Given the description of an element on the screen output the (x, y) to click on. 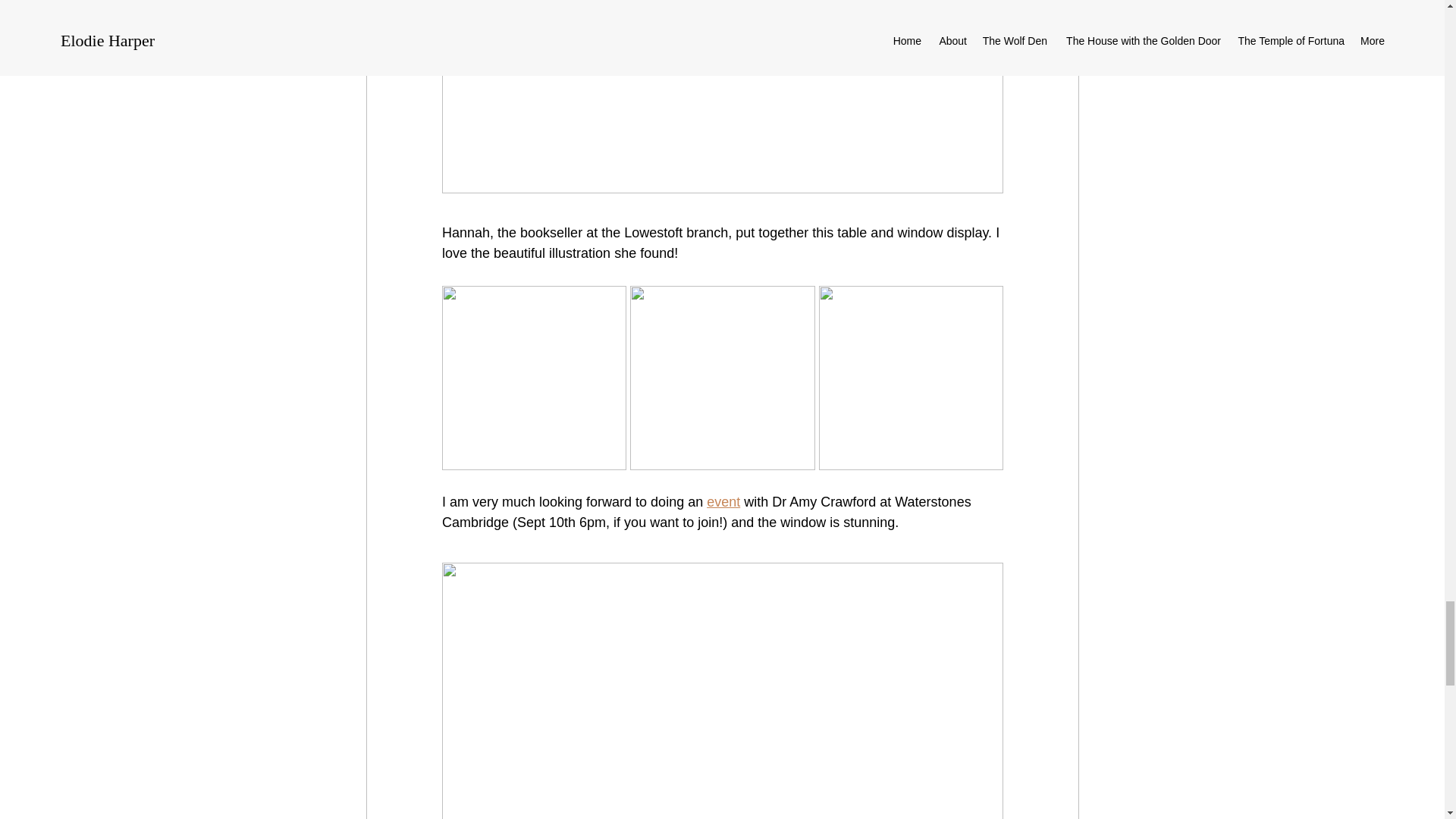
event (722, 501)
